Given the description of an element on the screen output the (x, y) to click on. 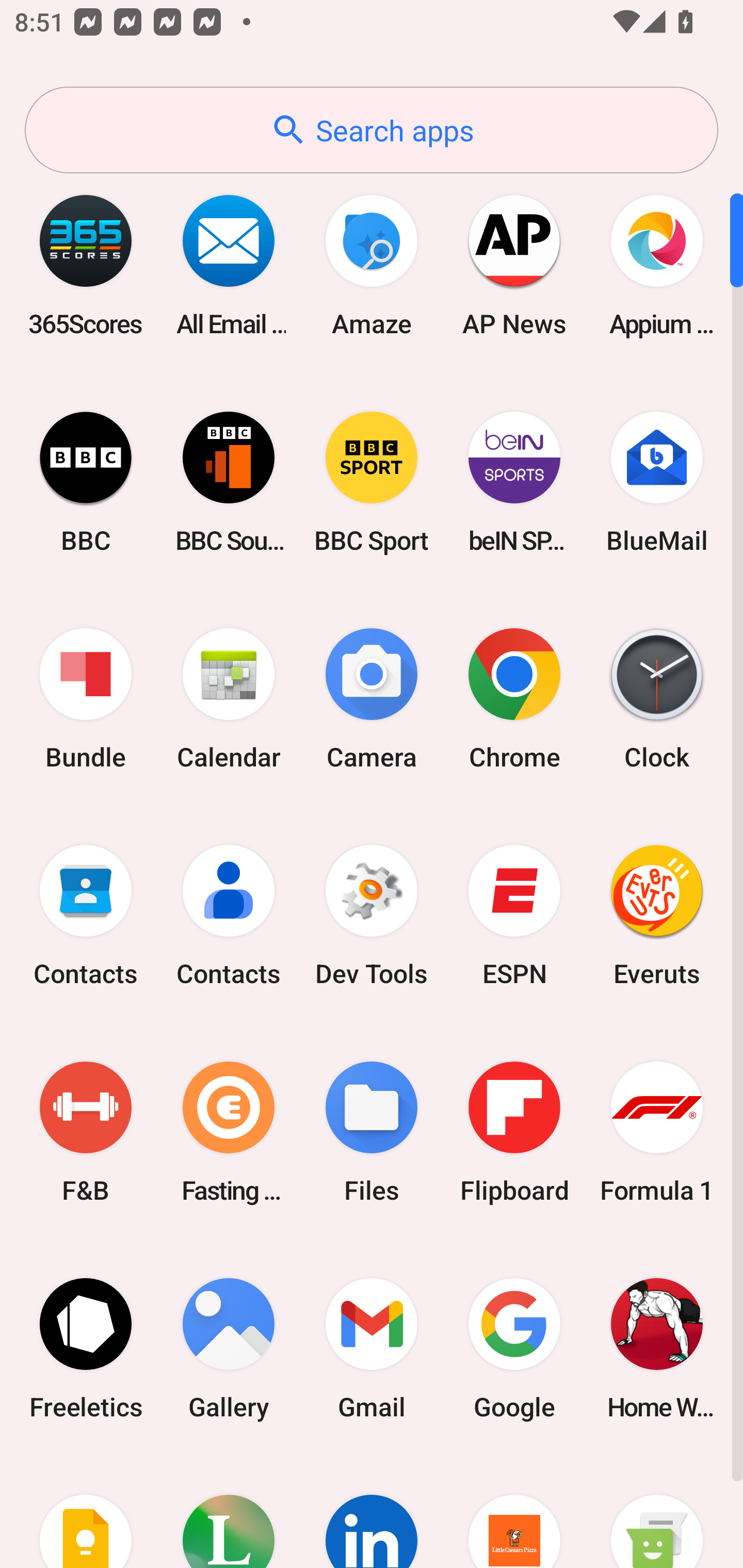
  Search apps (371, 130)
365Scores (85, 264)
All Email Connect (228, 264)
Amaze (371, 264)
AP News (514, 264)
Appium Settings (656, 264)
BBC (85, 482)
BBC Sounds (228, 482)
BBC Sport (371, 482)
beIN SPORTS (514, 482)
BlueMail (656, 482)
Bundle (85, 699)
Calendar (228, 699)
Camera (371, 699)
Chrome (514, 699)
Clock (656, 699)
Contacts (85, 915)
Contacts (228, 915)
Dev Tools (371, 915)
ESPN (514, 915)
Everuts (656, 915)
F&B (85, 1131)
Fasting Coach (228, 1131)
Files (371, 1131)
Flipboard (514, 1131)
Formula 1 (656, 1131)
Freeletics (85, 1348)
Gallery (228, 1348)
Gmail (371, 1348)
Google (514, 1348)
Home Workout (656, 1348)
Keep Notes (85, 1512)
Lifesum (228, 1512)
LinkedIn (371, 1512)
Little Caesars Pizza (514, 1512)
Messaging (656, 1512)
